Given the description of an element on the screen output the (x, y) to click on. 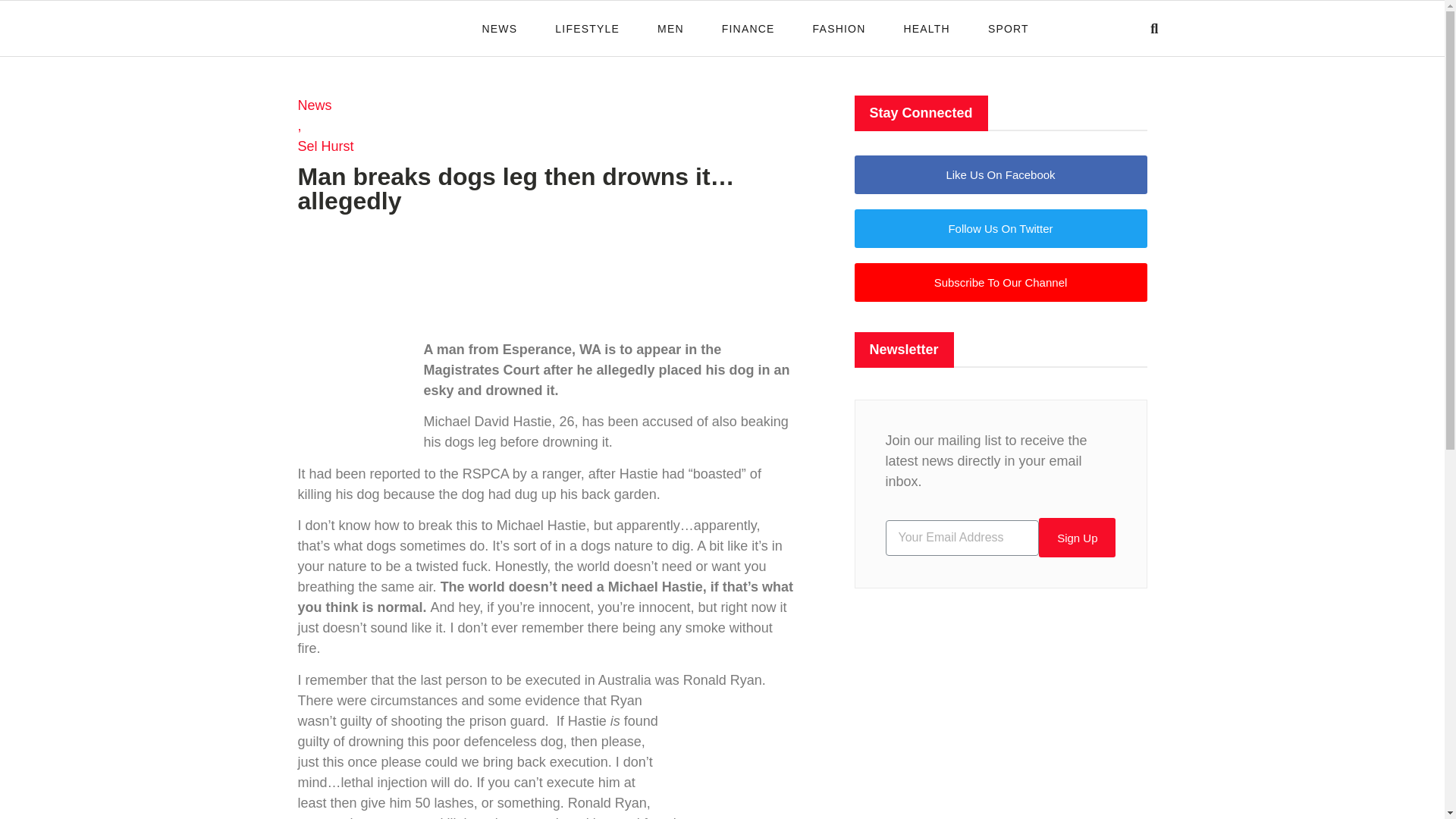
Sign Up (1077, 537)
Sel Hurst (325, 146)
Esky (353, 387)
HEALTH (925, 27)
Follow Us On Twitter (1000, 228)
FASHION (839, 27)
Subscribe To Our Channel (1000, 282)
MEN (671, 27)
FINANCE (748, 27)
Ronald Ryan, the last man hanged in Australia (736, 747)
News (325, 105)
NEWS (499, 27)
Like Us On Facebook (1000, 174)
LIFESTYLE (587, 27)
SPORT (1008, 27)
